Given the description of an element on the screen output the (x, y) to click on. 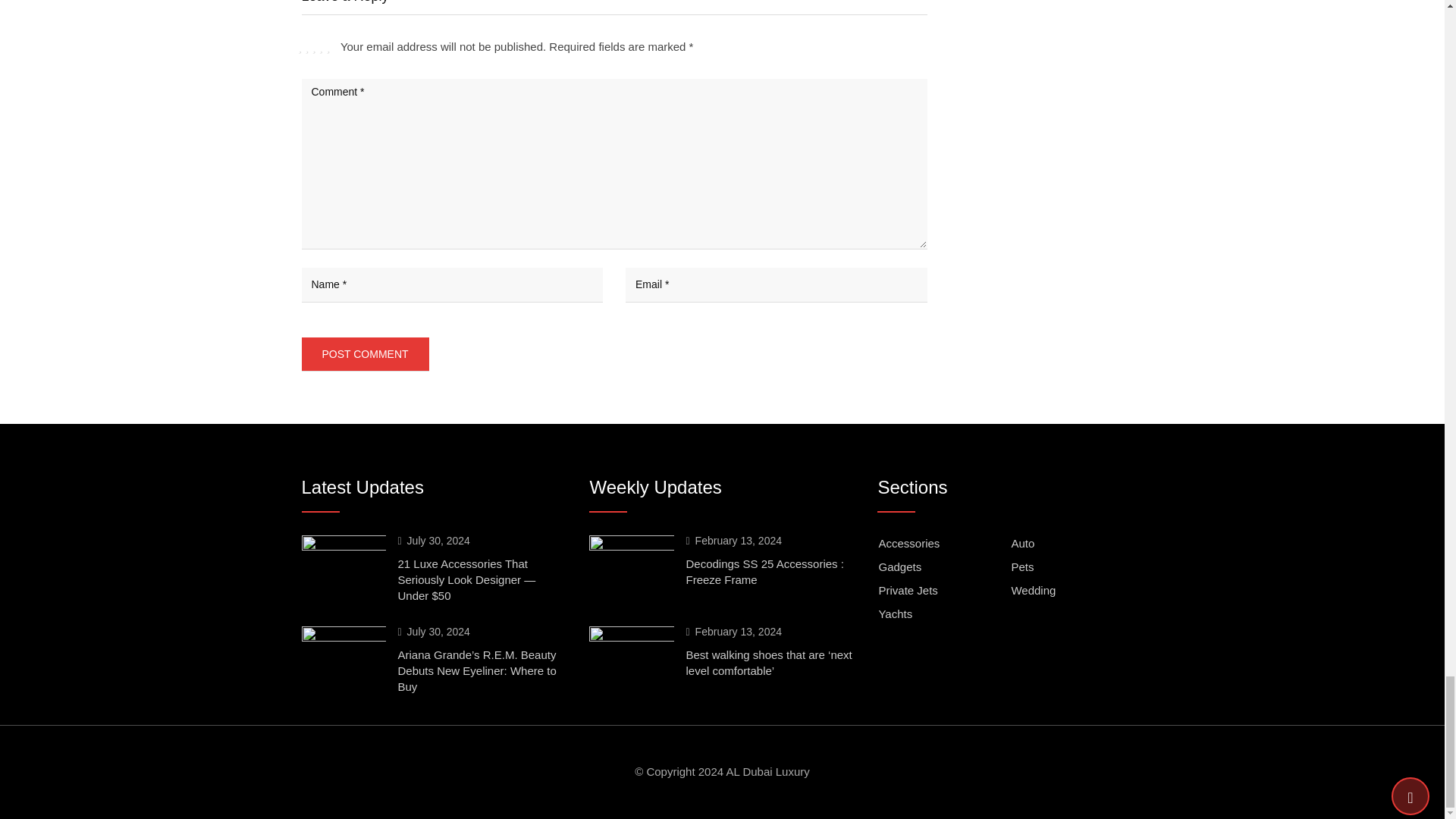
Post Comment (365, 354)
